Given the description of an element on the screen output the (x, y) to click on. 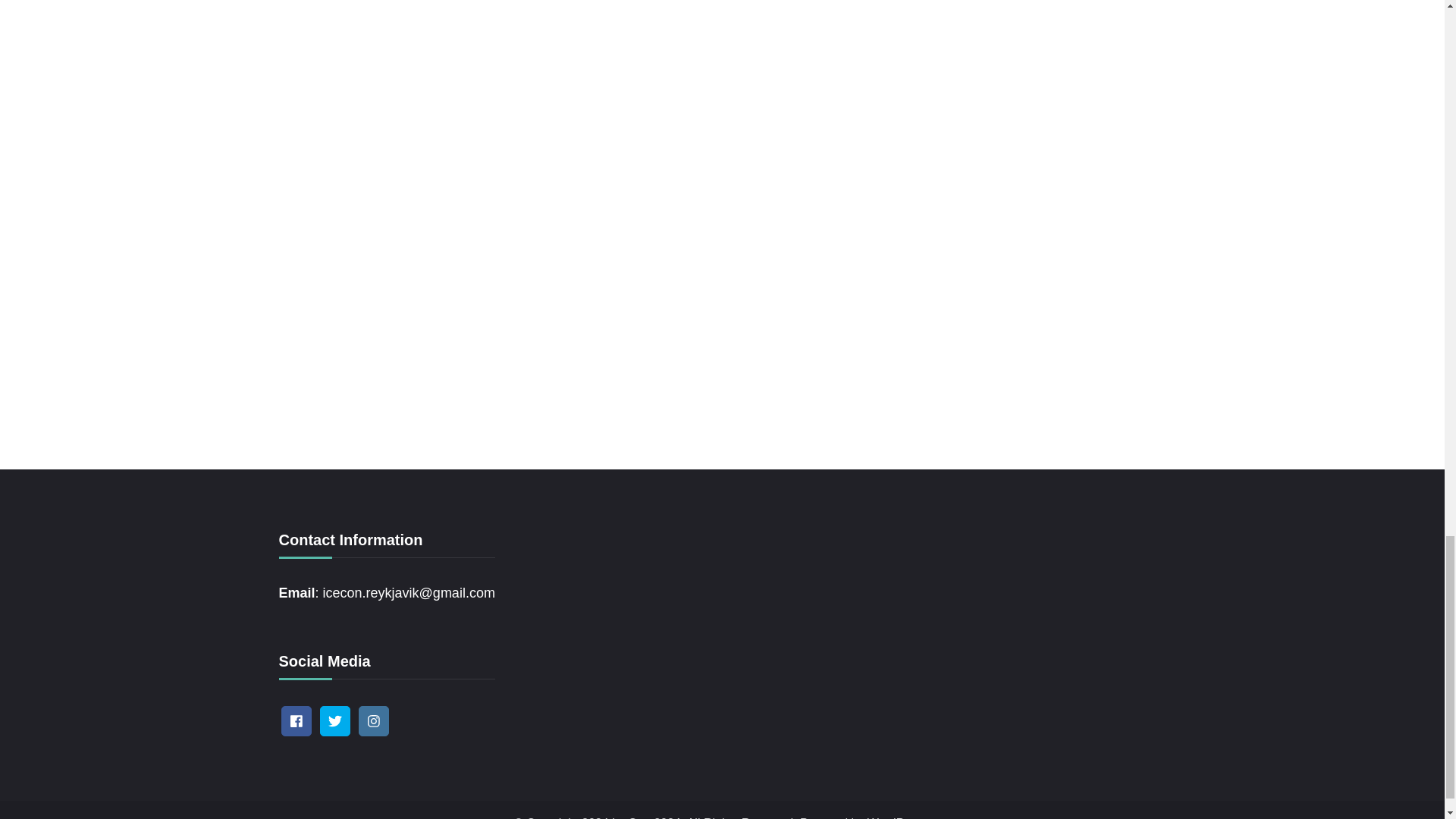
facebook (296, 720)
instagram (373, 720)
twitter (335, 720)
